Given the description of an element on the screen output the (x, y) to click on. 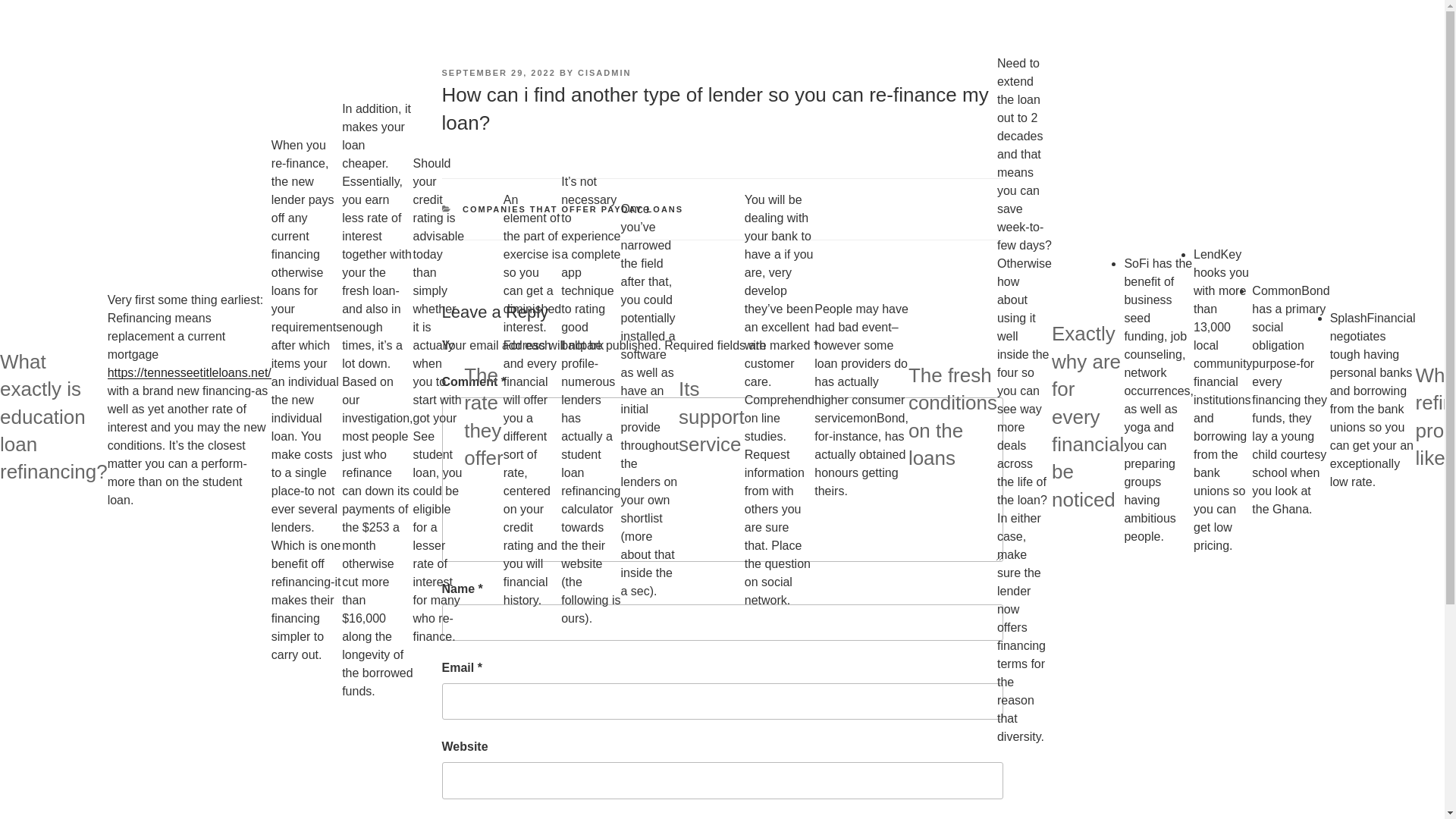
SEPTEMBER 29, 2022 (497, 71)
CISADMIN (604, 71)
COMPANIES THAT OFFER PAYDAY LOANS (572, 208)
